Given the description of an element on the screen output the (x, y) to click on. 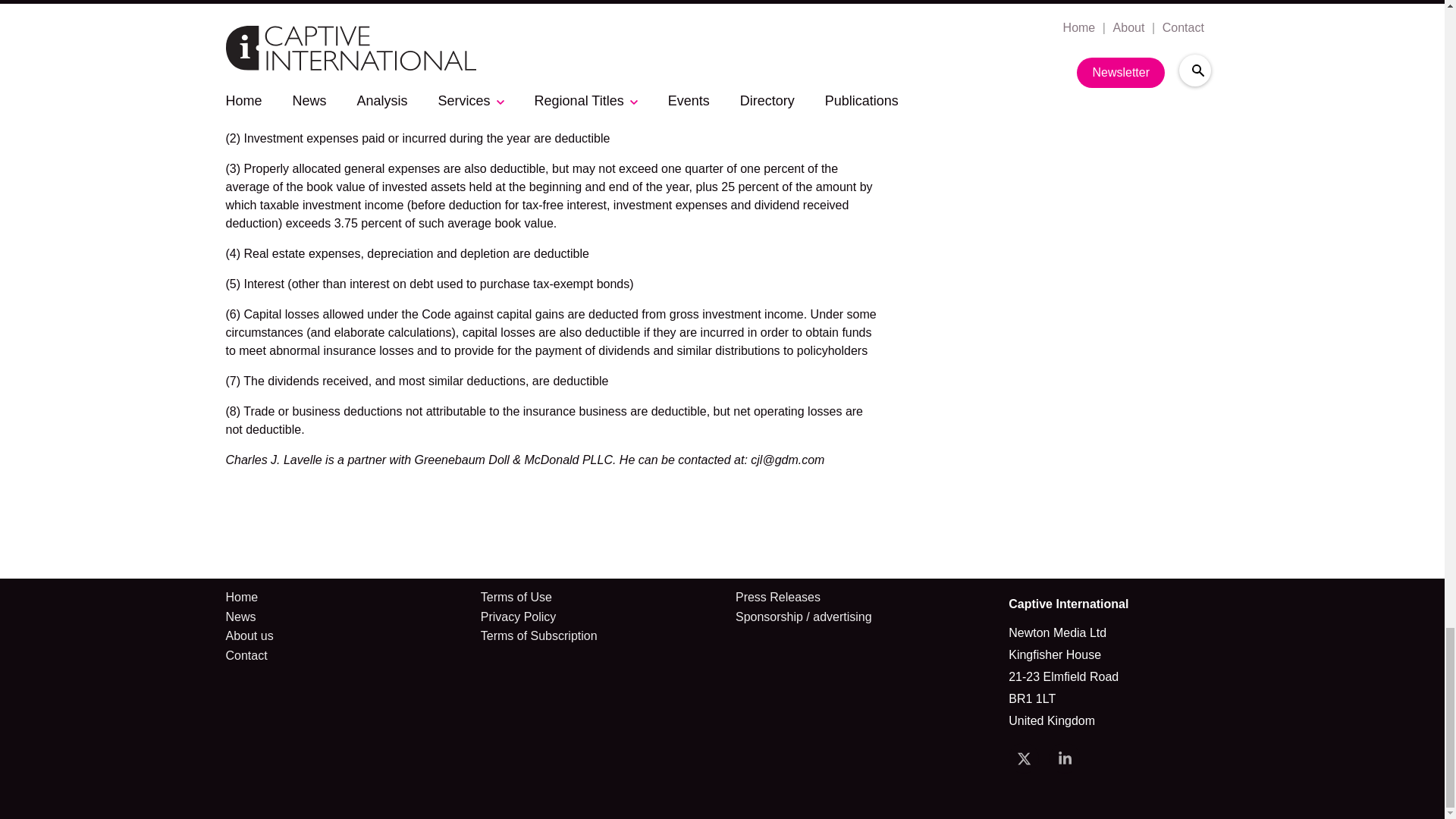
Home (249, 597)
